Given the description of an element on the screen output the (x, y) to click on. 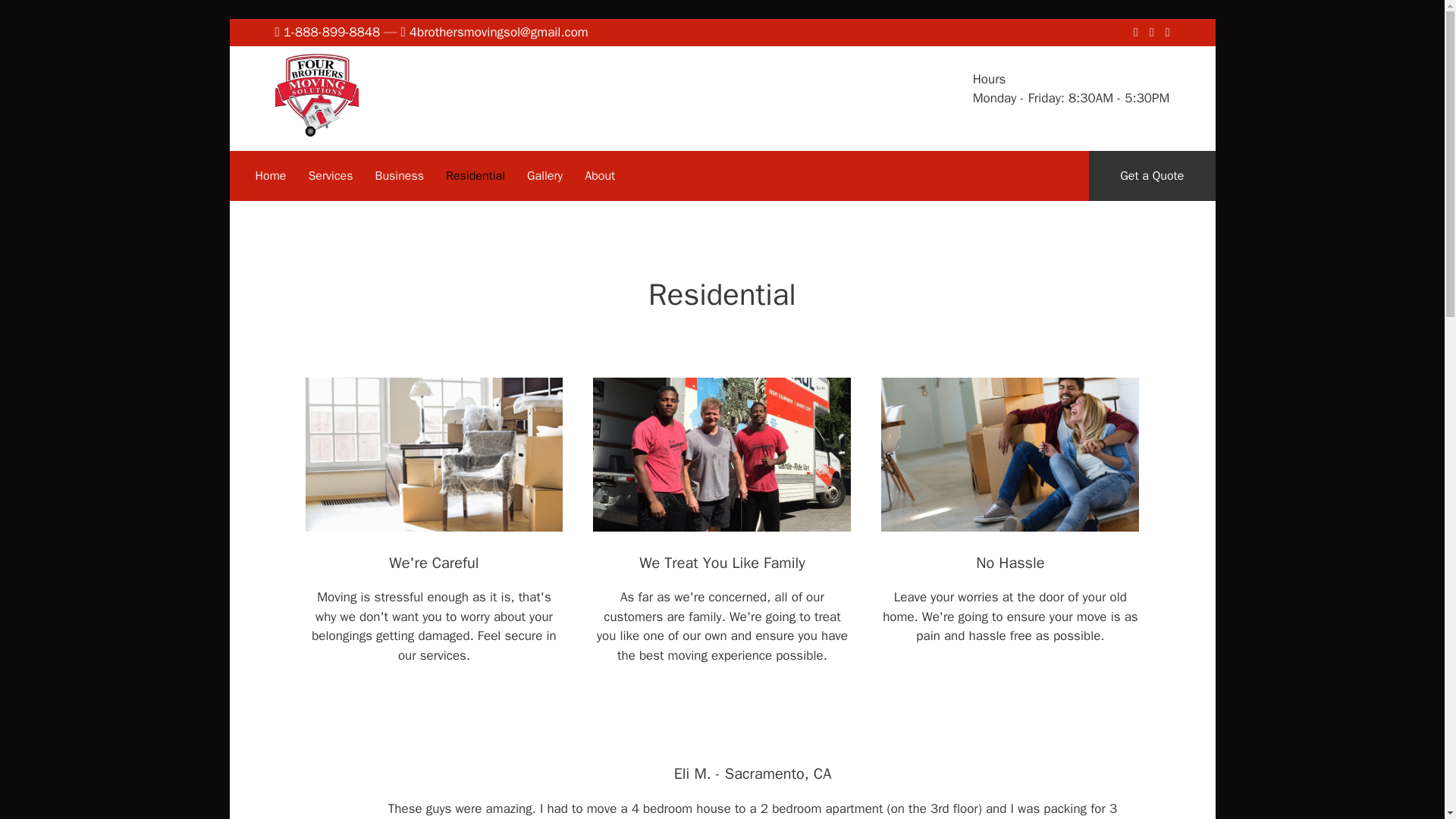
1-888-899-8848 (331, 32)
About (599, 175)
Get a Quote (1152, 174)
Business (400, 175)
Home (270, 175)
Gallery (544, 175)
Services (329, 175)
Residential (475, 175)
